Given the description of an element on the screen output the (x, y) to click on. 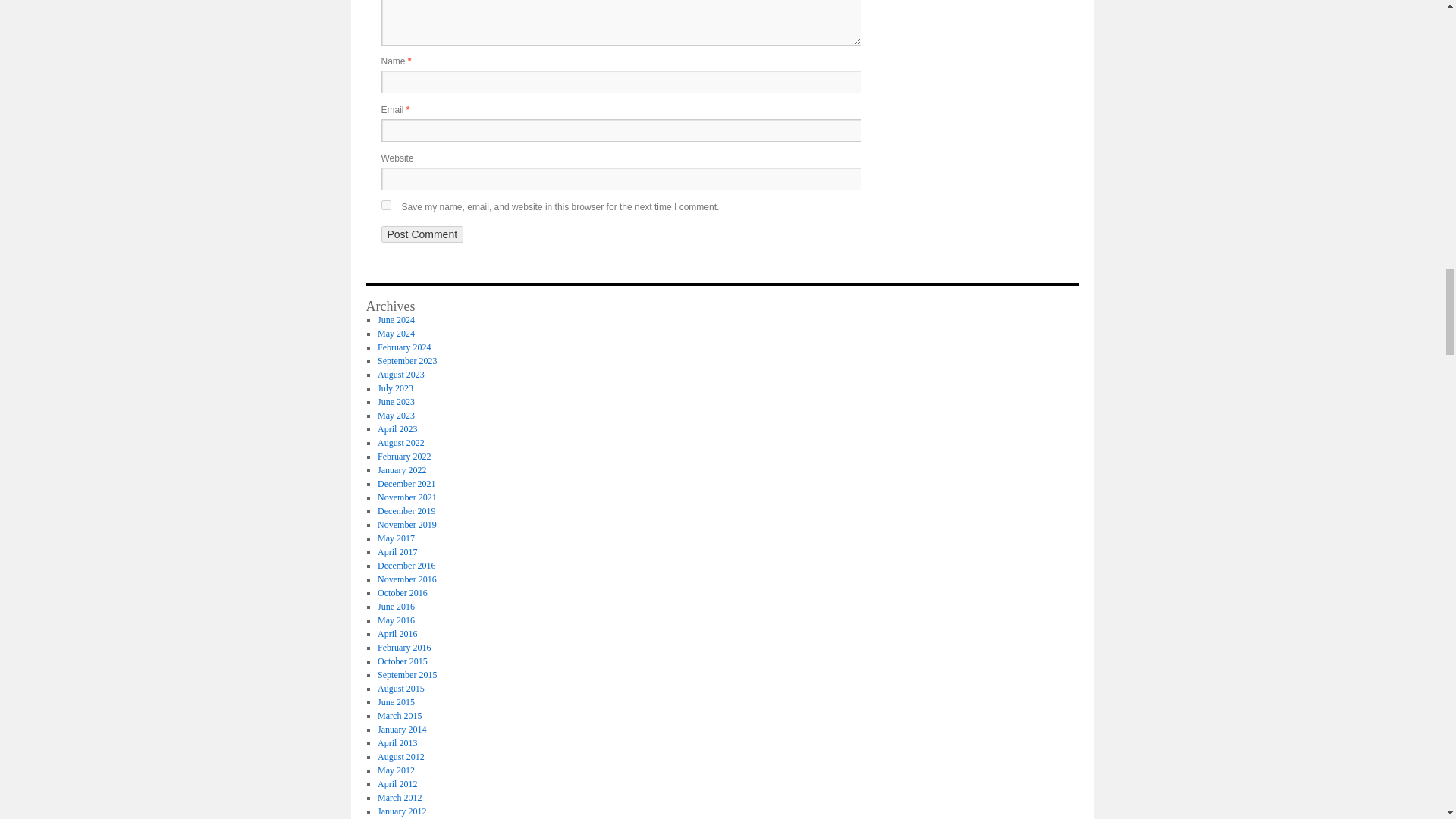
yes (385, 204)
Post Comment (421, 234)
